Given the description of an element on the screen output the (x, y) to click on. 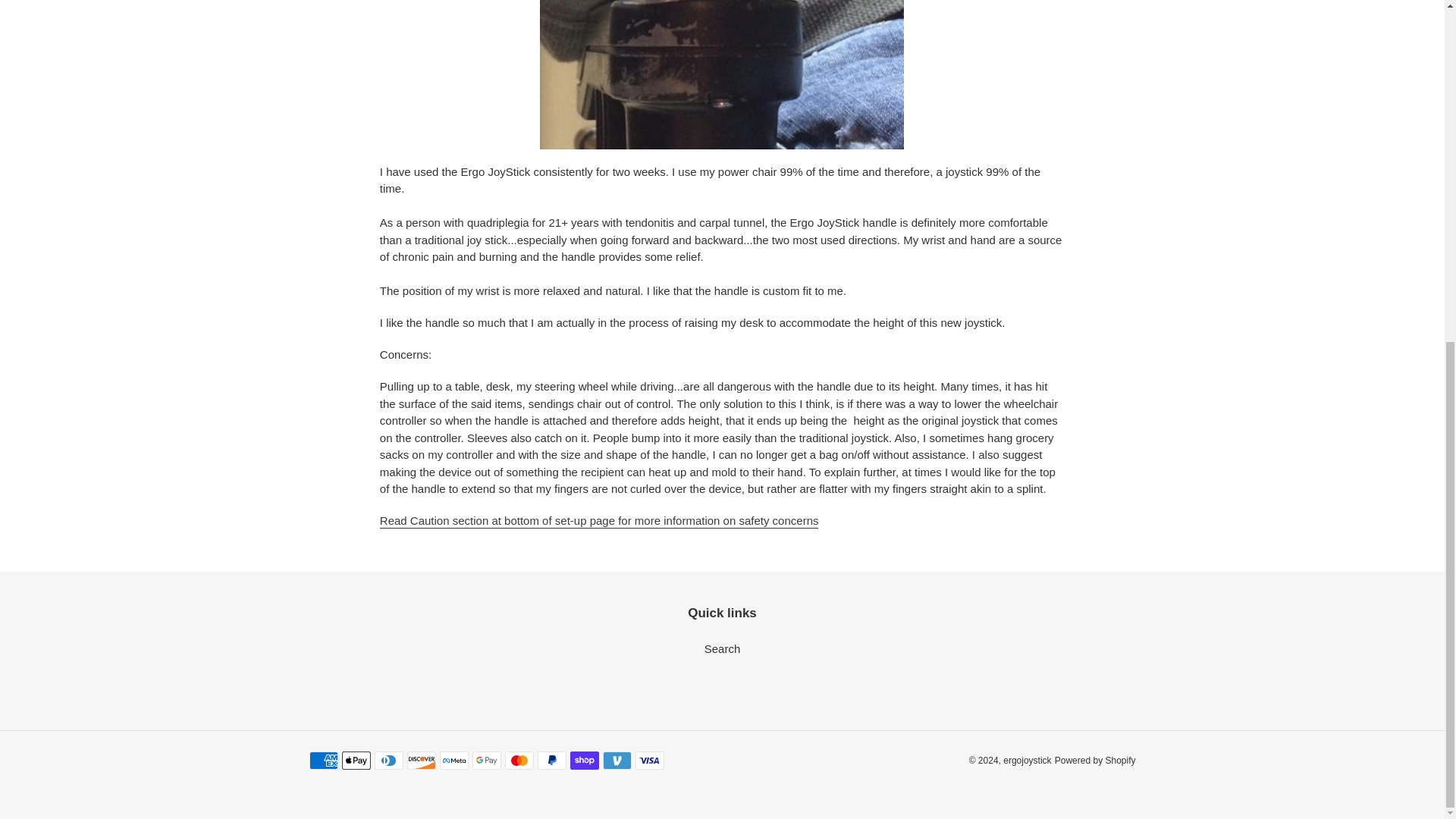
ergojoystick (1027, 760)
Search (722, 648)
Powered by Shopify (1094, 760)
Caution (599, 521)
